Given the description of an element on the screen output the (x, y) to click on. 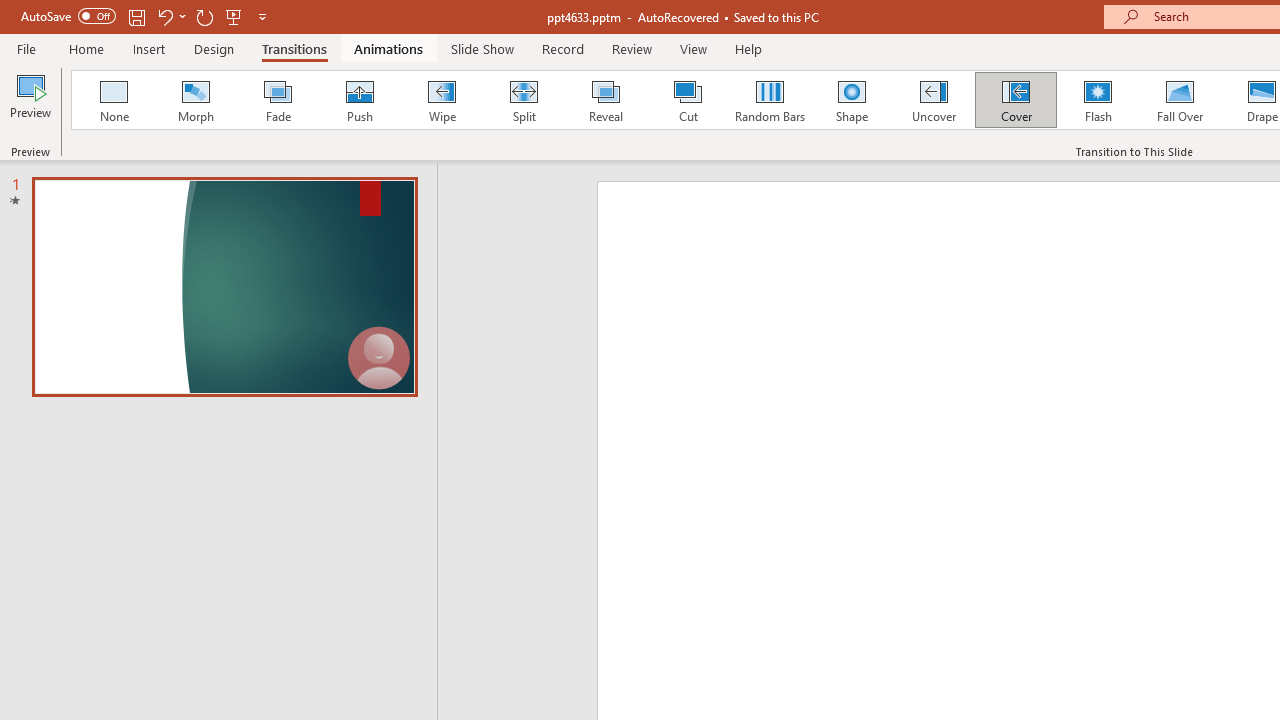
Integral (429, 100)
Office Theme (150, 100)
Facet (243, 100)
Ion Boardroom Loading Preview... (615, 100)
